Given the description of an element on the screen output the (x, y) to click on. 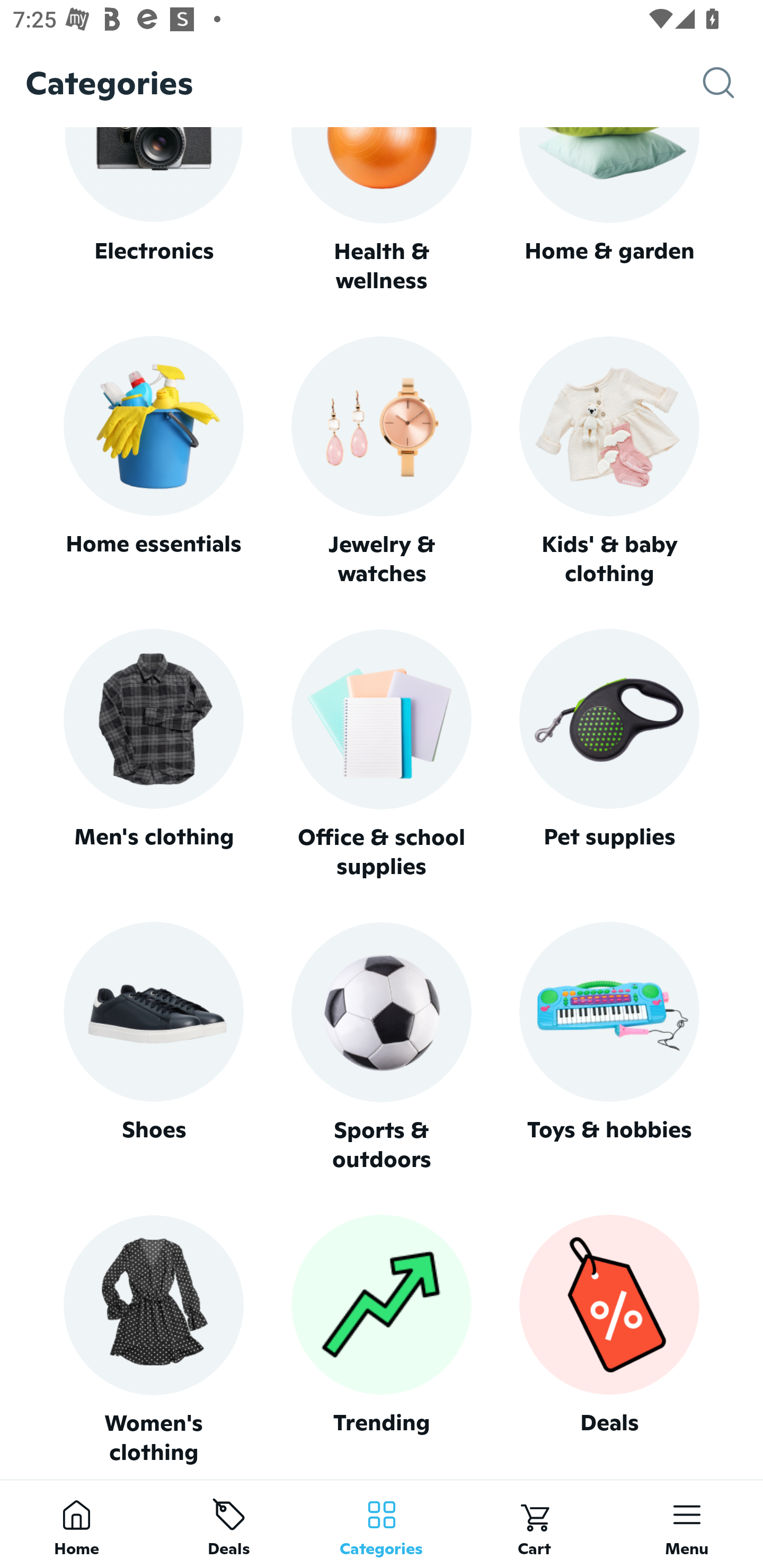
Search (732, 82)
Electronics (153, 210)
Health & wellness (381, 210)
Home & garden (609, 210)
Home essentials (153, 461)
Jewelry & watches (381, 462)
Kids' & baby clothing (609, 462)
Men's clothing (153, 753)
Pet supplies (609, 753)
Office & school supplies (381, 753)
Shoes (153, 1046)
Toys & hobbies (609, 1046)
Sports & outdoors (381, 1046)
Trending (381, 1340)
Deals (609, 1340)
Women's clothing (153, 1340)
Home (76, 1523)
Deals (228, 1523)
Categories (381, 1523)
Cart (533, 1523)
Menu (686, 1523)
